Given the description of an element on the screen output the (x, y) to click on. 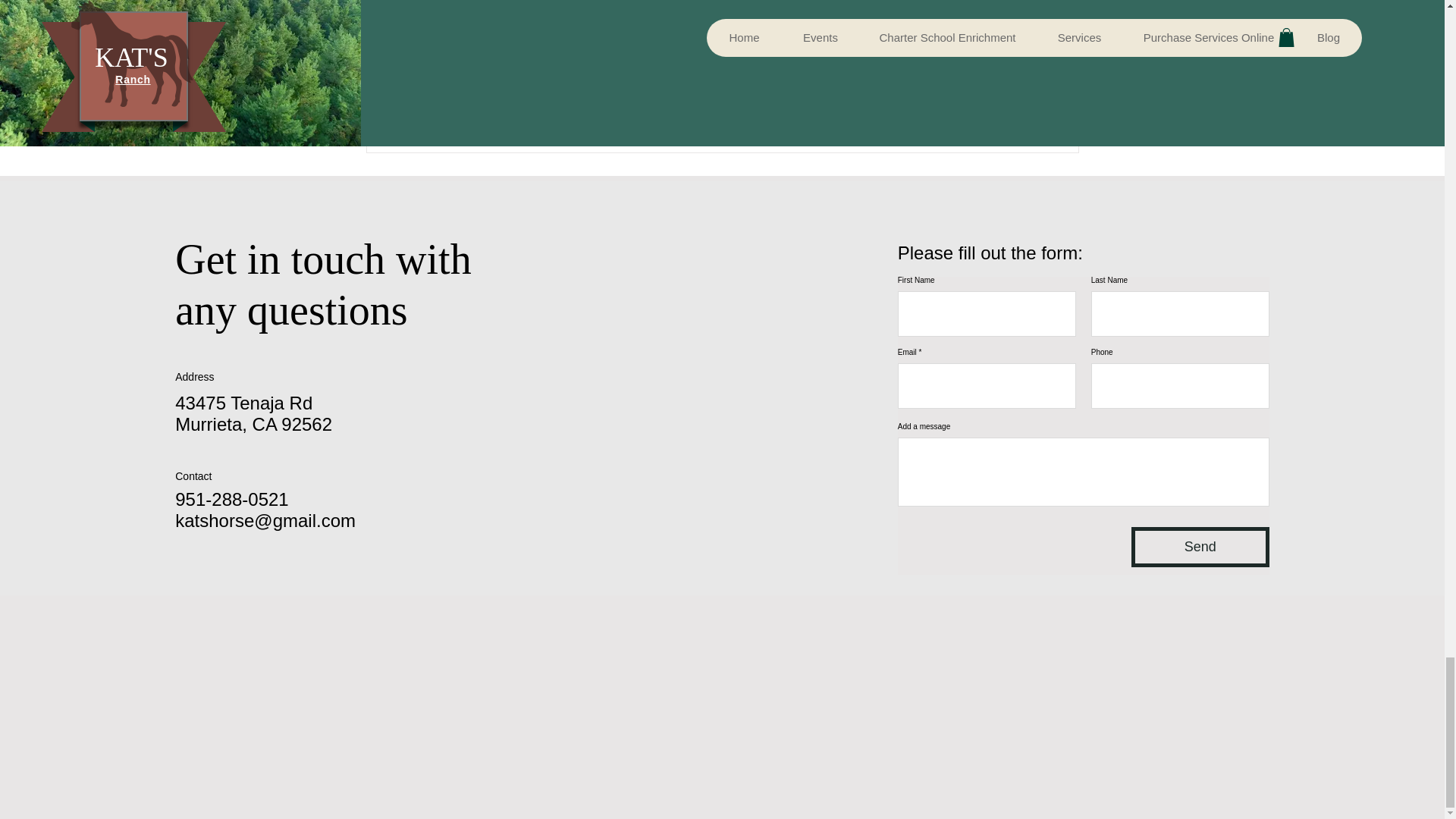
Write a comment... (722, 86)
